Given the description of an element on the screen output the (x, y) to click on. 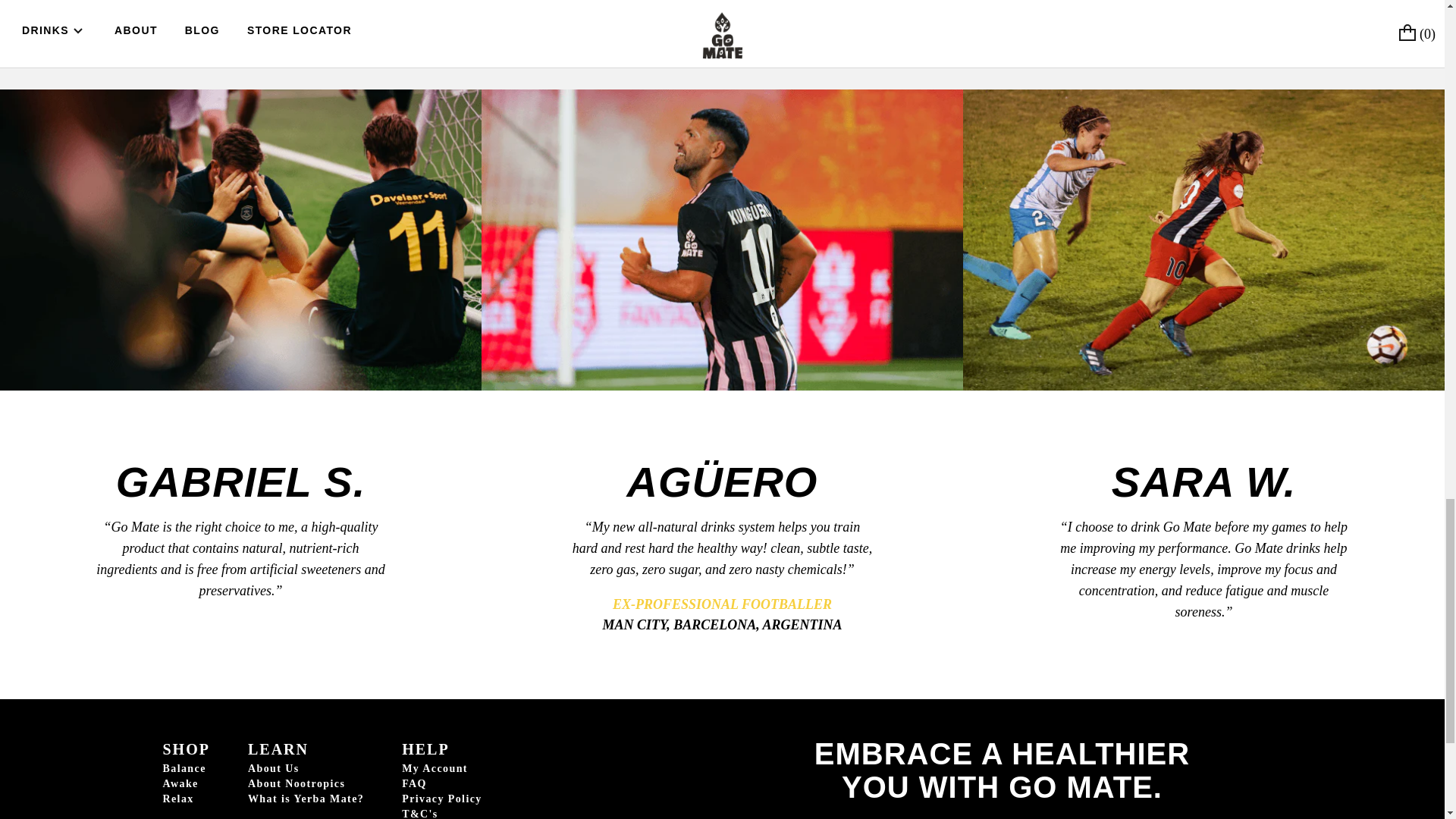
My Account (441, 768)
Balance (185, 768)
FAQ (441, 783)
What is Yerba Mate? (305, 798)
Privacy Policy (441, 798)
Relax (185, 798)
Awake (185, 783)
About Us (305, 768)
About Nootropics (305, 783)
